Given the description of an element on the screen output the (x, y) to click on. 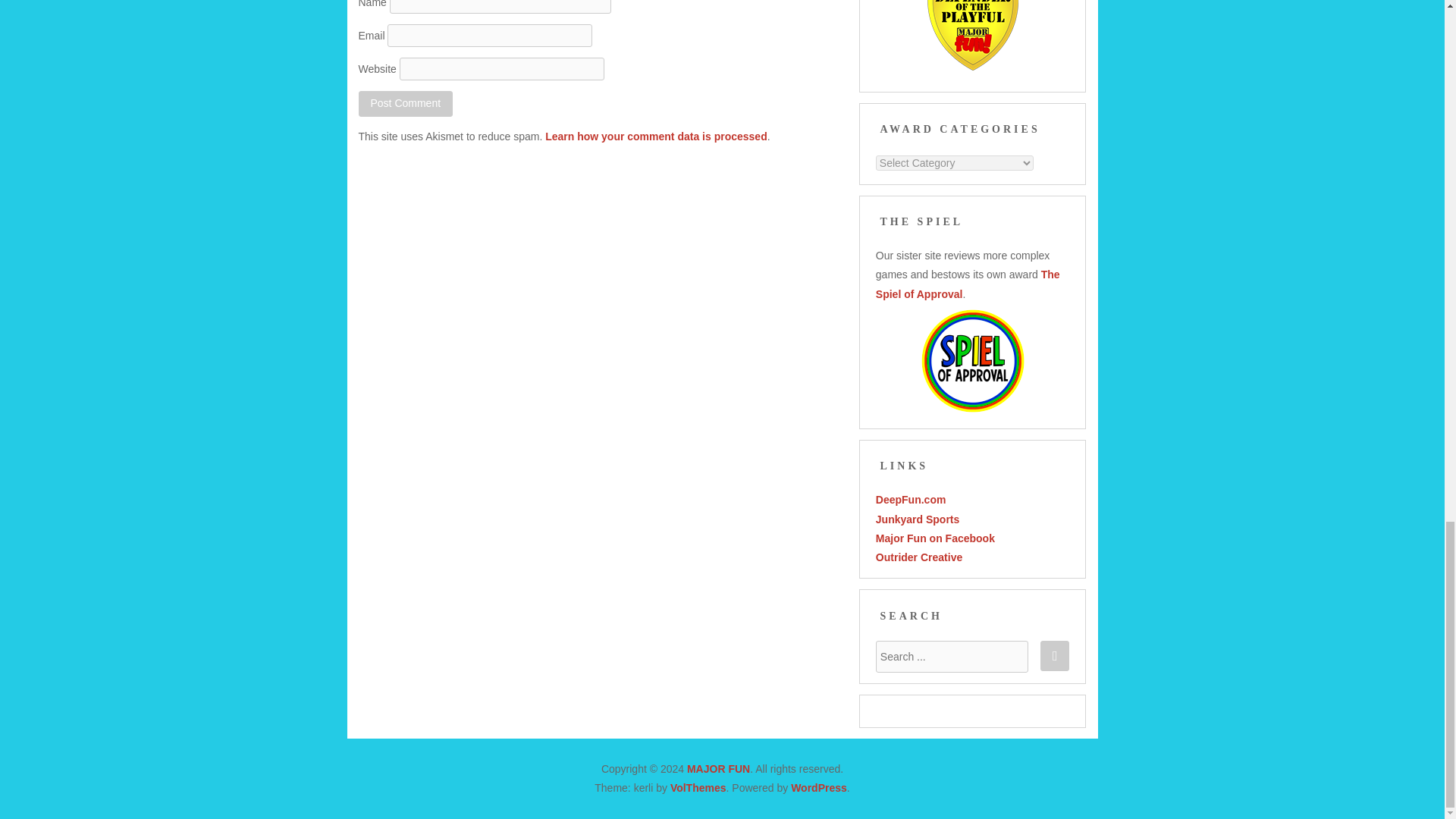
Post Comment (405, 103)
Post Comment (405, 103)
VolThemes (697, 787)
WordPress (818, 787)
Michael, who helped me with this website! (919, 557)
When the fun gets deep enough, it can heal the world (911, 499)
MAJOR FUN (718, 768)
Learn how your comment data is processed (655, 136)
The official Facebook site for the Major Fun Award!! (935, 538)
DeepFun.com (911, 499)
The Spiel of Approval (967, 283)
